Given the description of an element on the screen output the (x, y) to click on. 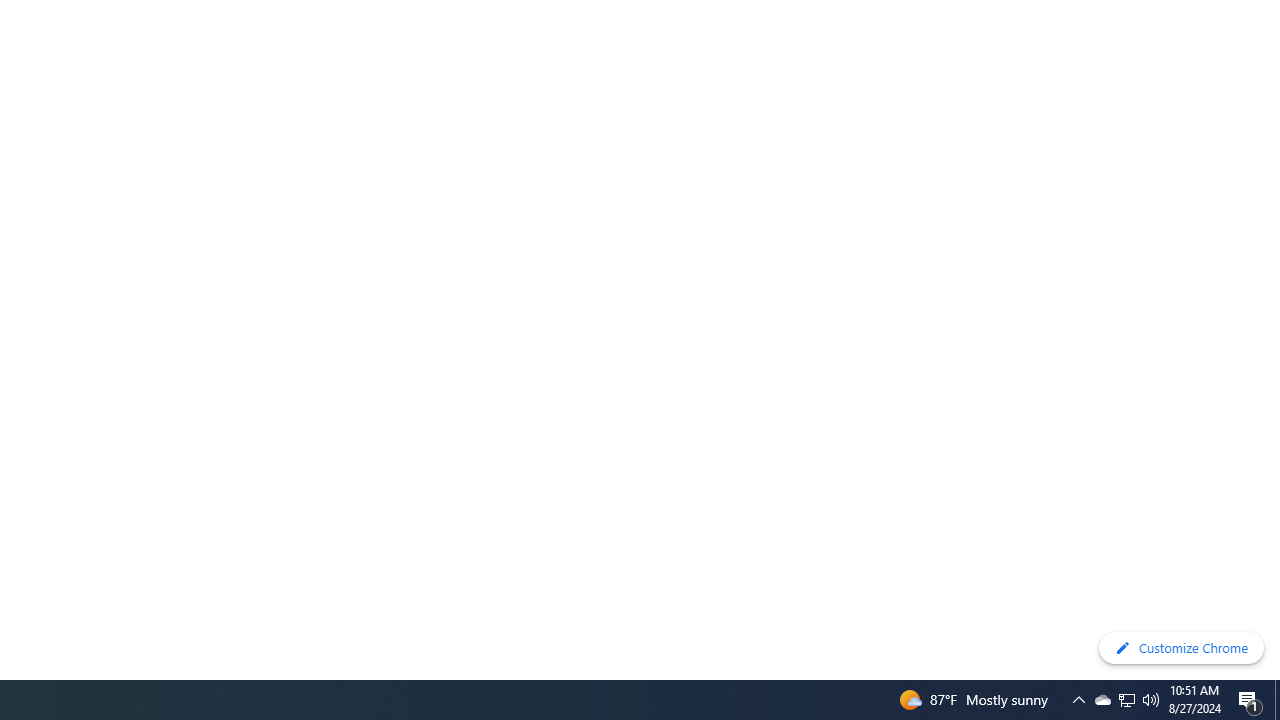
Customize Chrome (1181, 647)
